Given the description of an element on the screen output the (x, y) to click on. 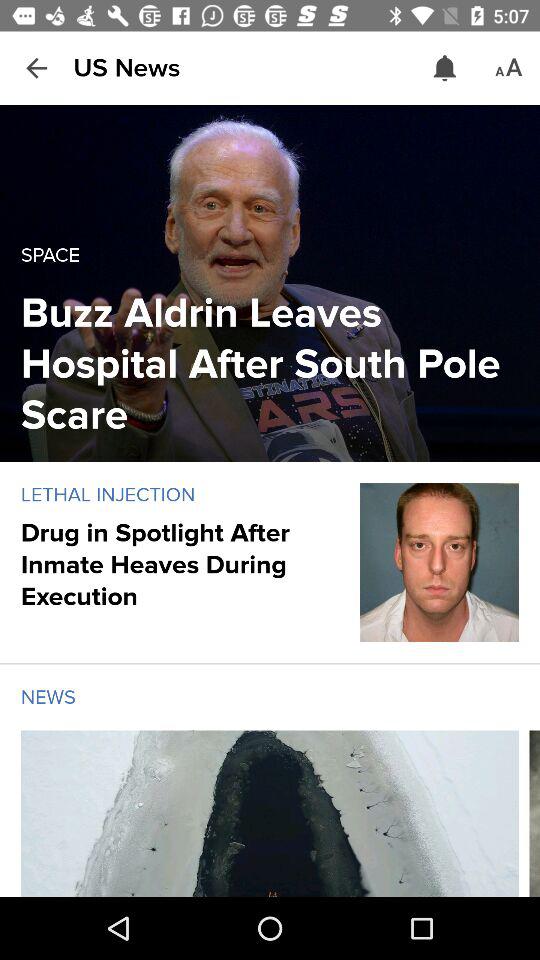
select the item next to the us news item (444, 67)
